Given the description of an element on the screen output the (x, y) to click on. 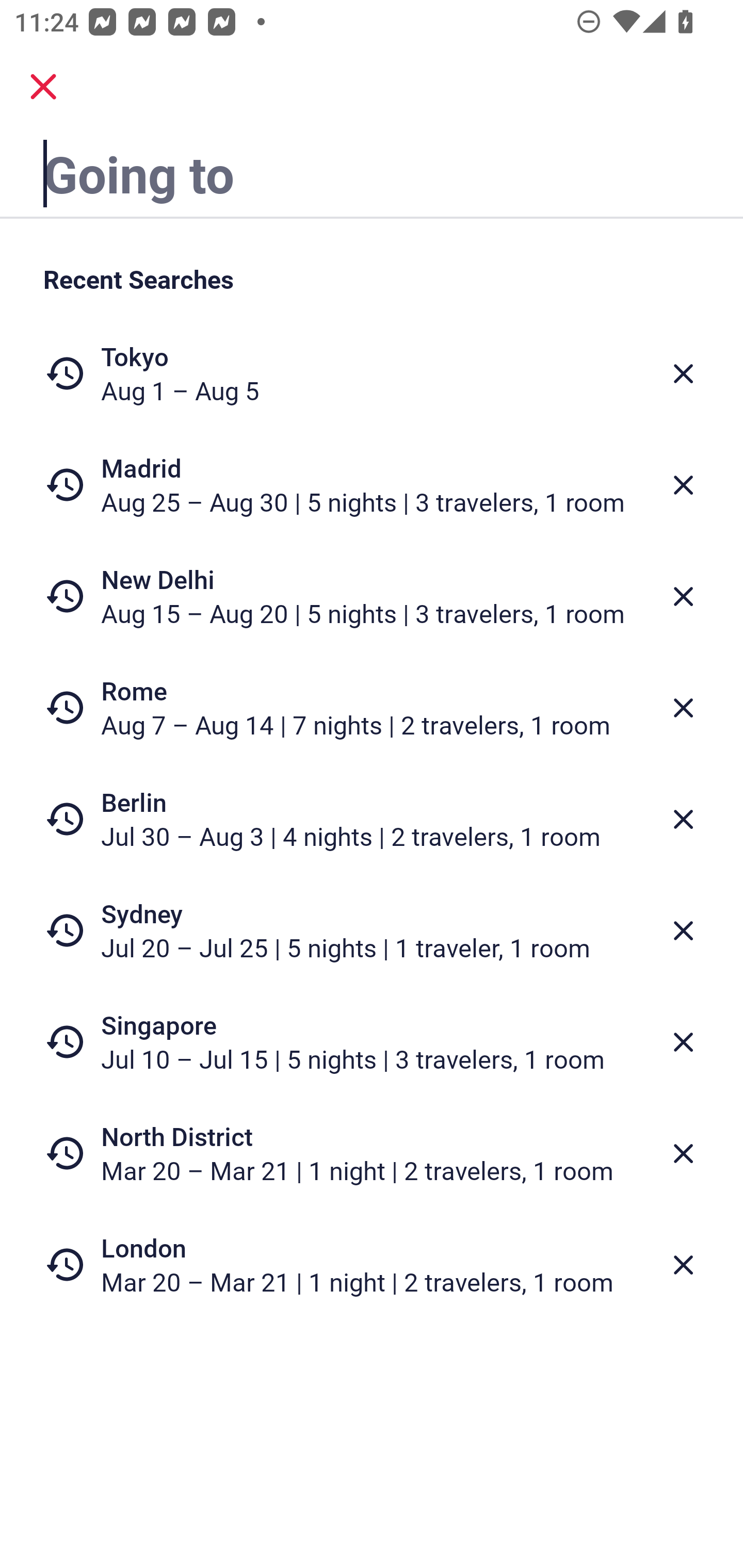
close. (43, 86)
Tokyo Aug 1 – Aug 5 (371, 373)
Delete from recent searches (683, 373)
Delete from recent searches (683, 485)
Delete from recent searches (683, 596)
Delete from recent searches (683, 707)
Delete from recent searches (683, 819)
Delete from recent searches (683, 930)
Delete from recent searches (683, 1041)
Delete from recent searches (683, 1153)
Delete from recent searches (683, 1265)
